Given the description of an element on the screen output the (x, y) to click on. 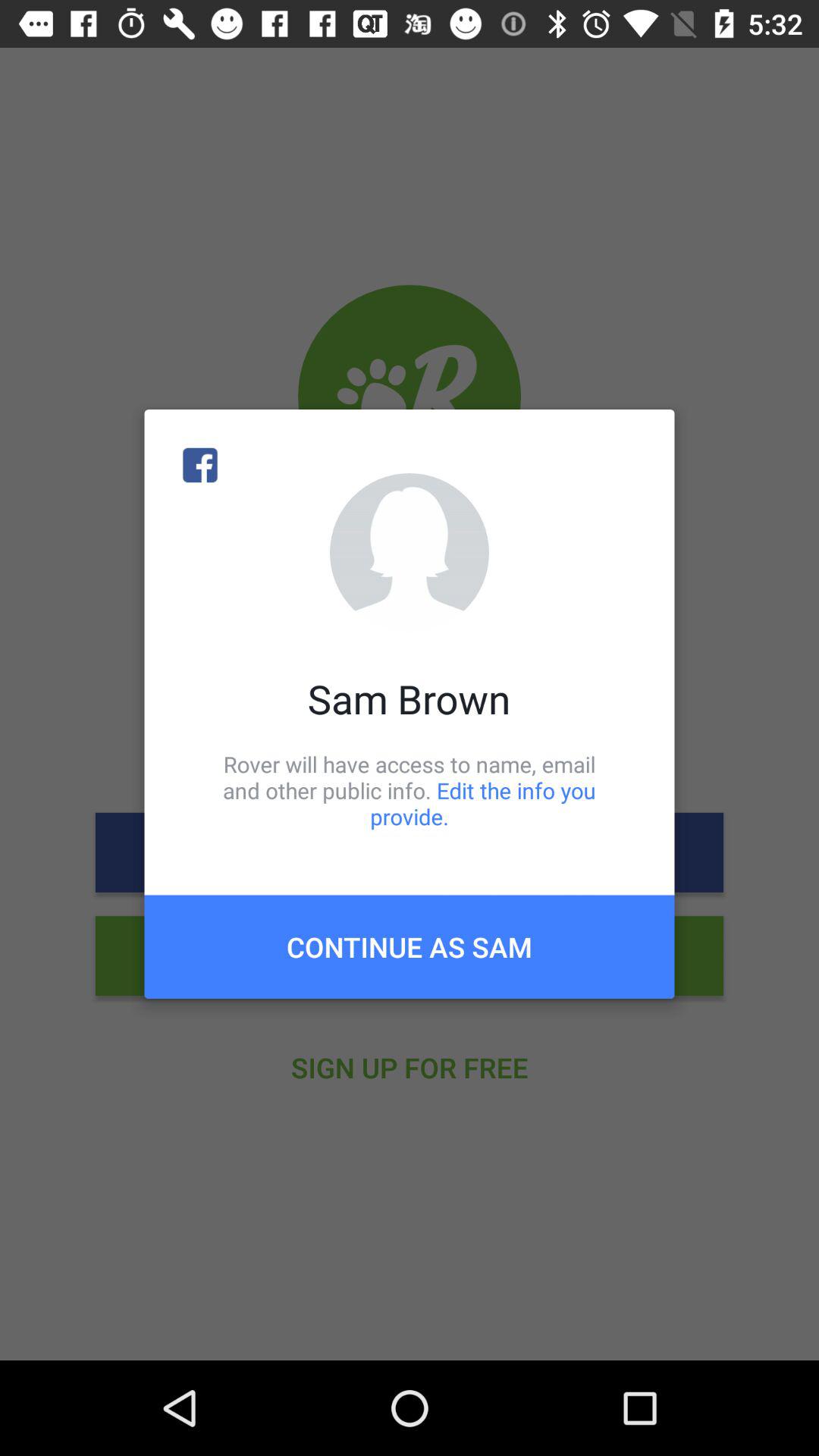
flip to continue as sam (409, 946)
